Given the description of an element on the screen output the (x, y) to click on. 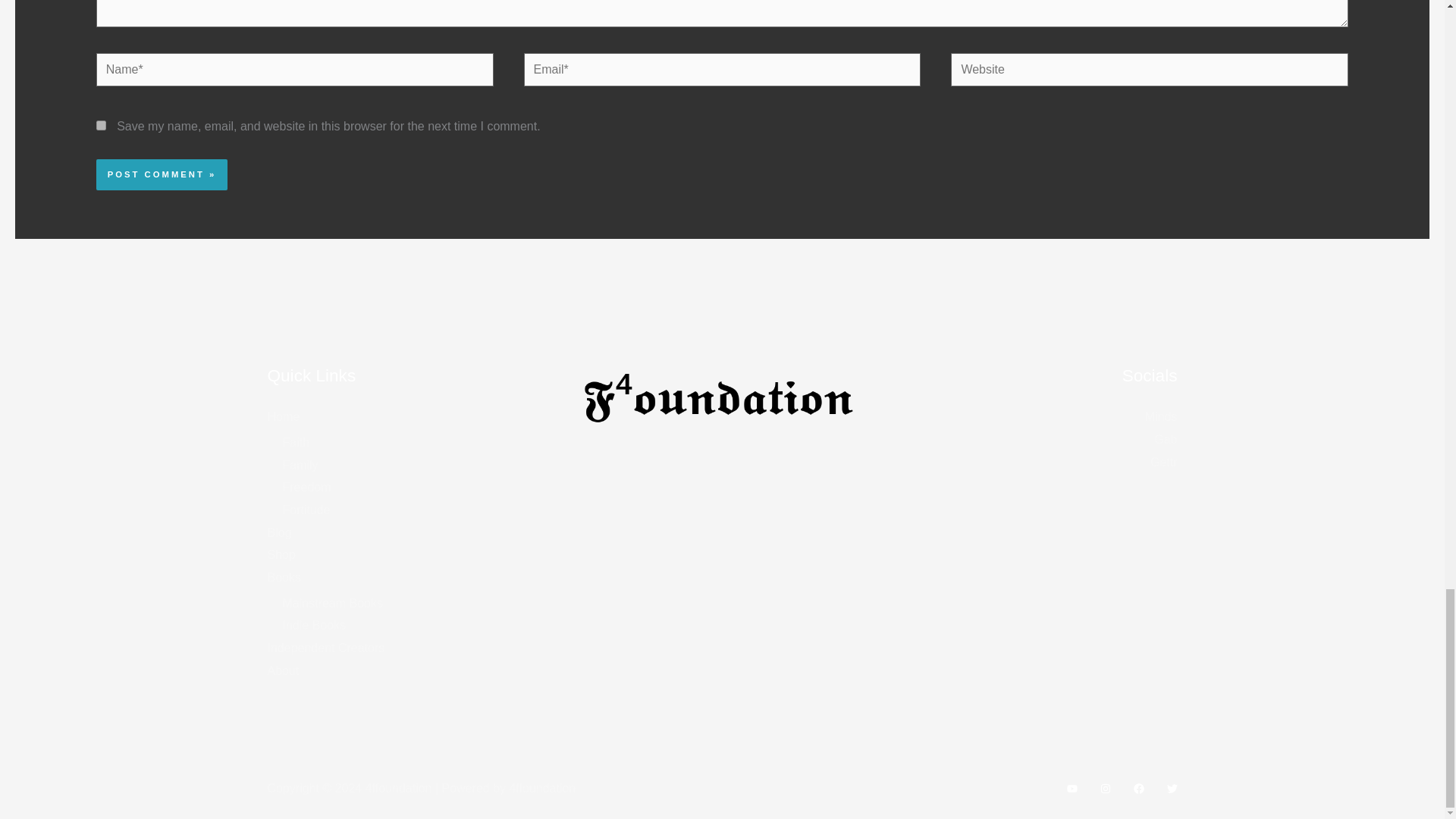
yes (101, 125)
